Given the description of an element on the screen output the (x, y) to click on. 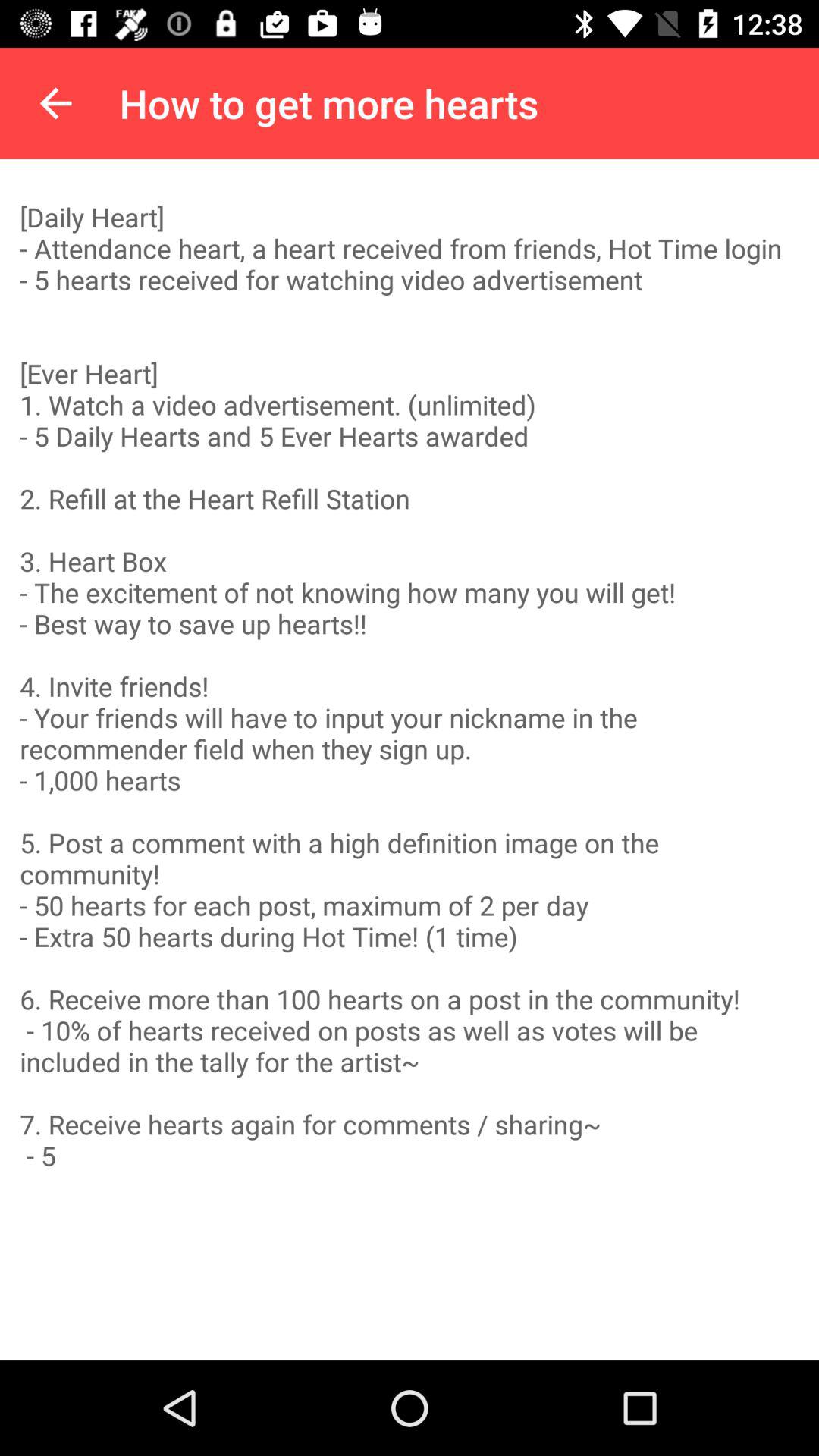
turn on the icon next to the how to get item (55, 103)
